Given the description of an element on the screen output the (x, y) to click on. 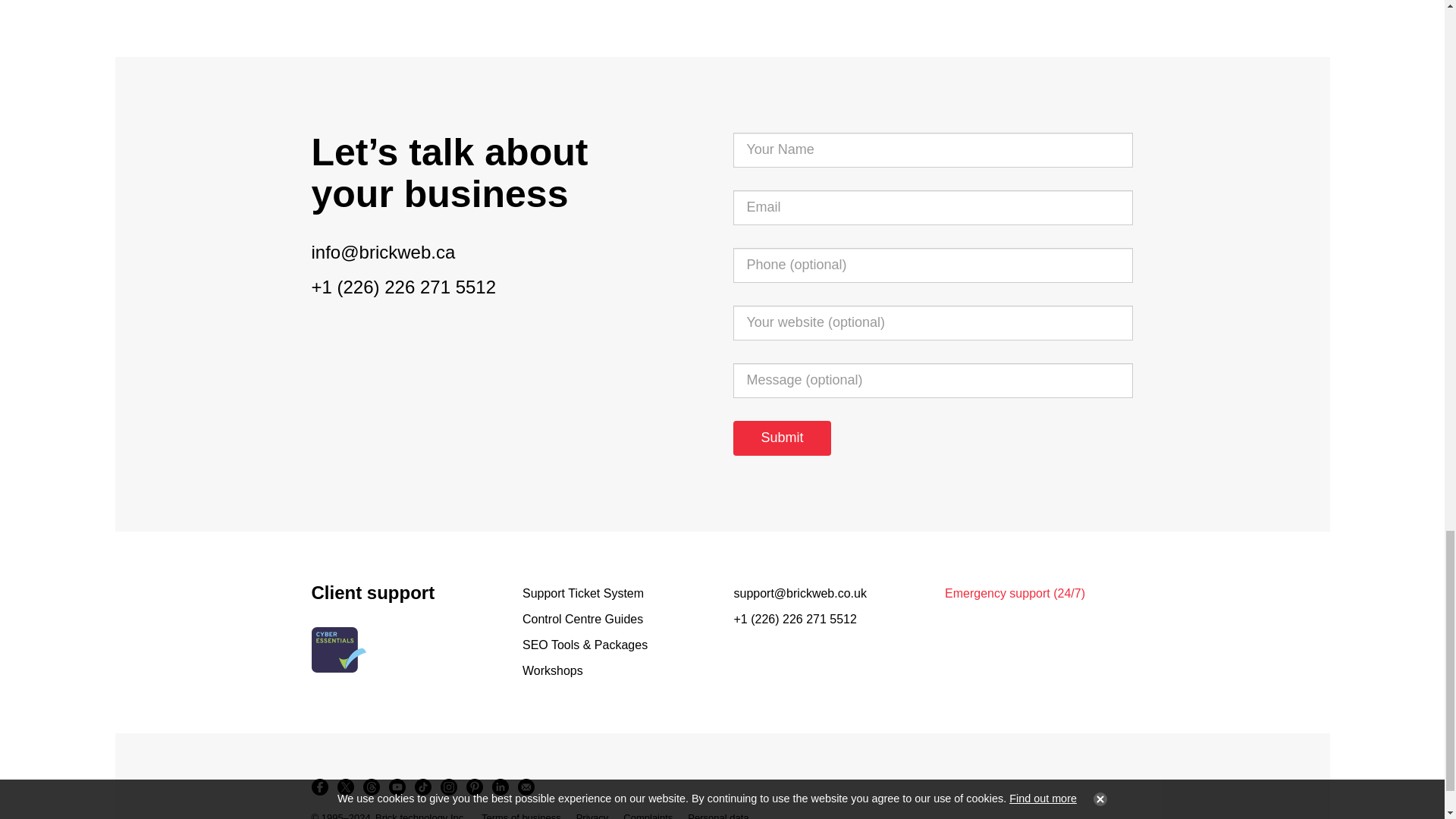
TikTok (422, 786)
Newsletter (525, 786)
YouTube (396, 786)
Get a copy of your personal data or Erase my personal data (717, 814)
Submit (781, 437)
Facebook (318, 786)
Pinterest (473, 786)
Instagram (448, 786)
LinkedIn (499, 786)
X (344, 786)
Threads (371, 786)
